Given the description of an element on the screen output the (x, y) to click on. 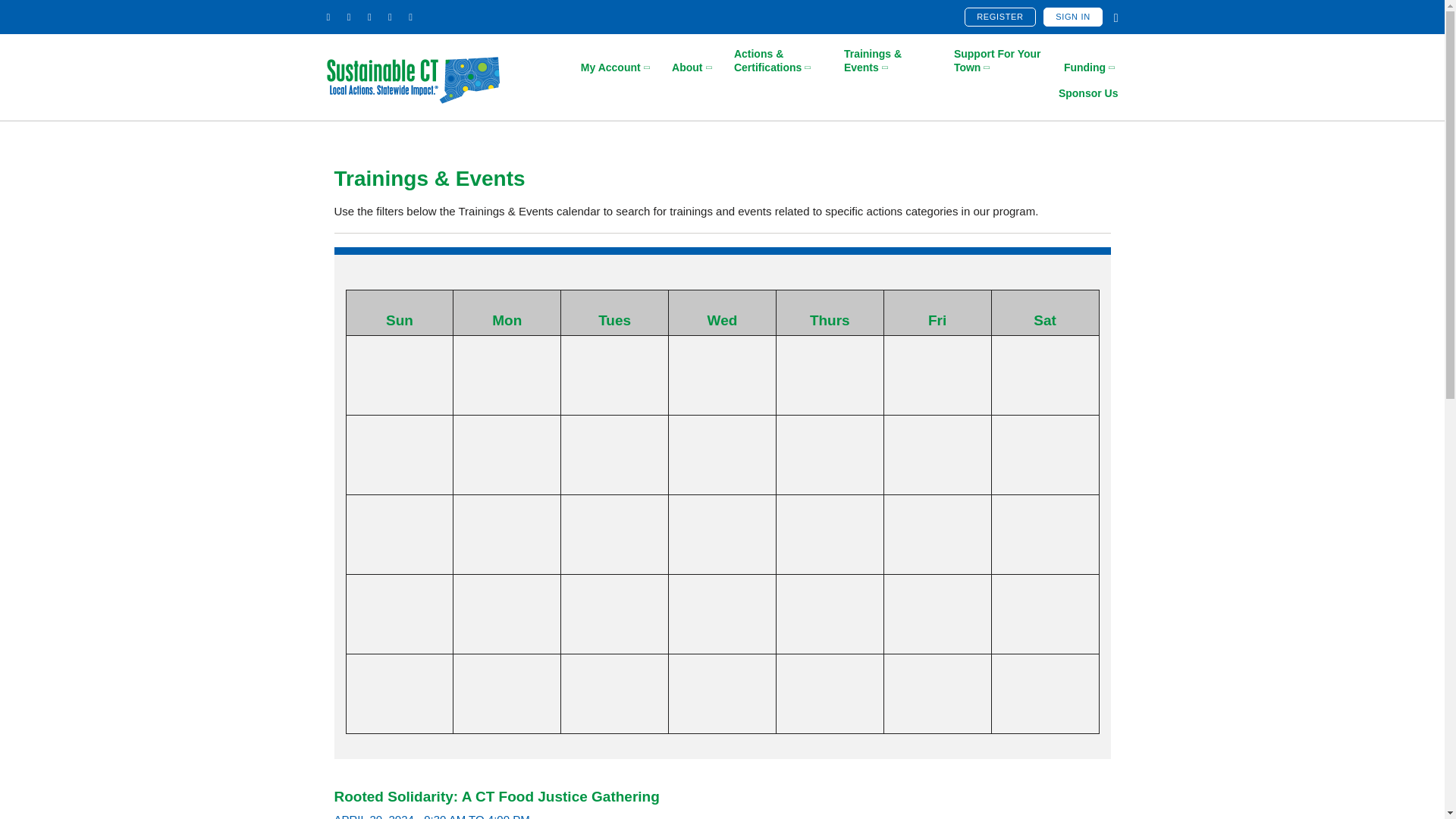
My Account (616, 67)
REGISTER (999, 16)
About (692, 67)
SIGN IN (1072, 16)
